Given the description of an element on the screen output the (x, y) to click on. 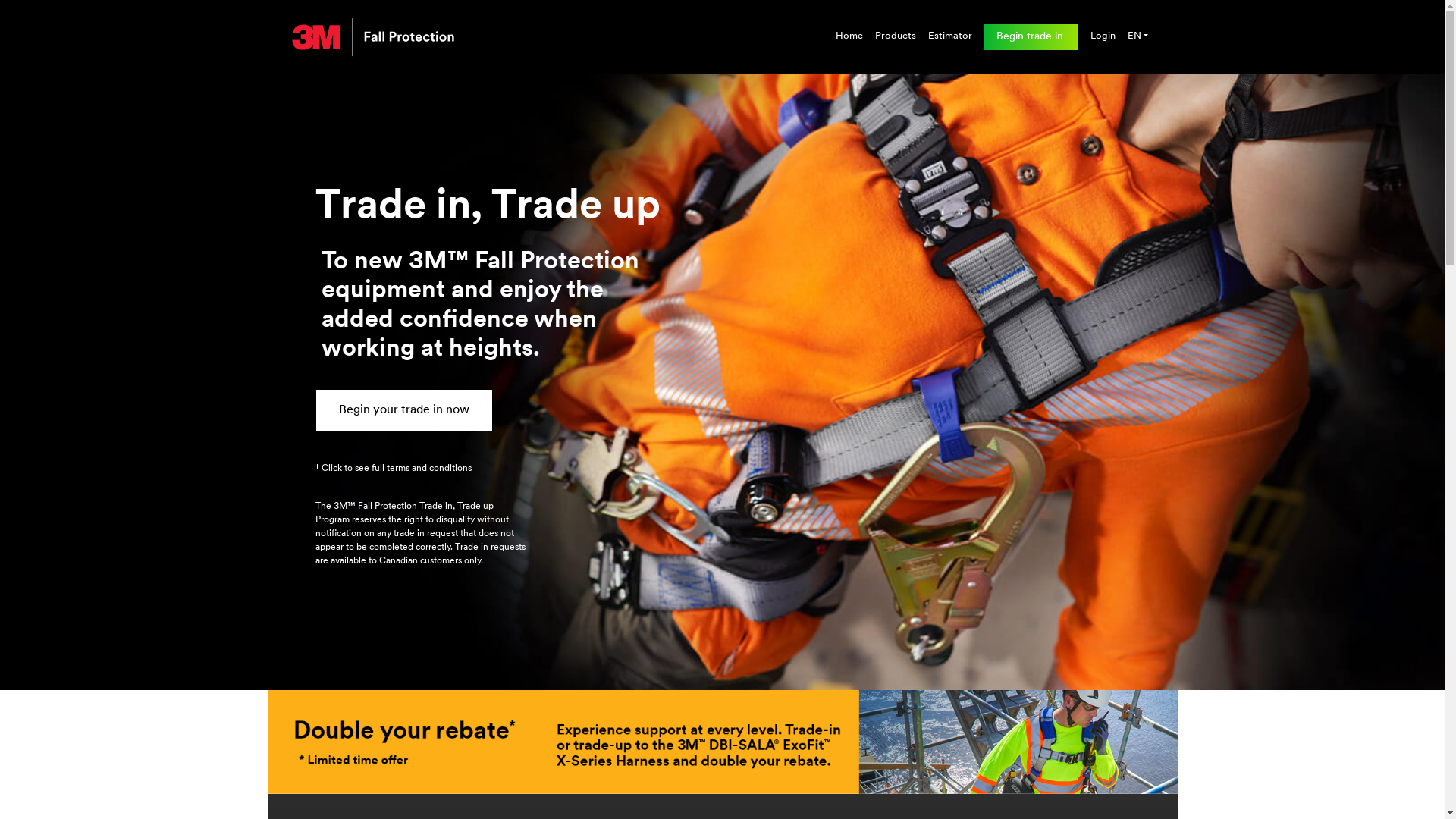
EN Element type: text (1137, 35)
Login Element type: text (1102, 35)
Products Element type: text (895, 35)
Begin trade in Element type: text (1031, 36)
Begin your trade in now Element type: text (403, 410)
Begin trade in Element type: text (1031, 36)
Home Element type: text (849, 35)
Estimator Element type: text (950, 35)
